Given the description of an element on the screen output the (x, y) to click on. 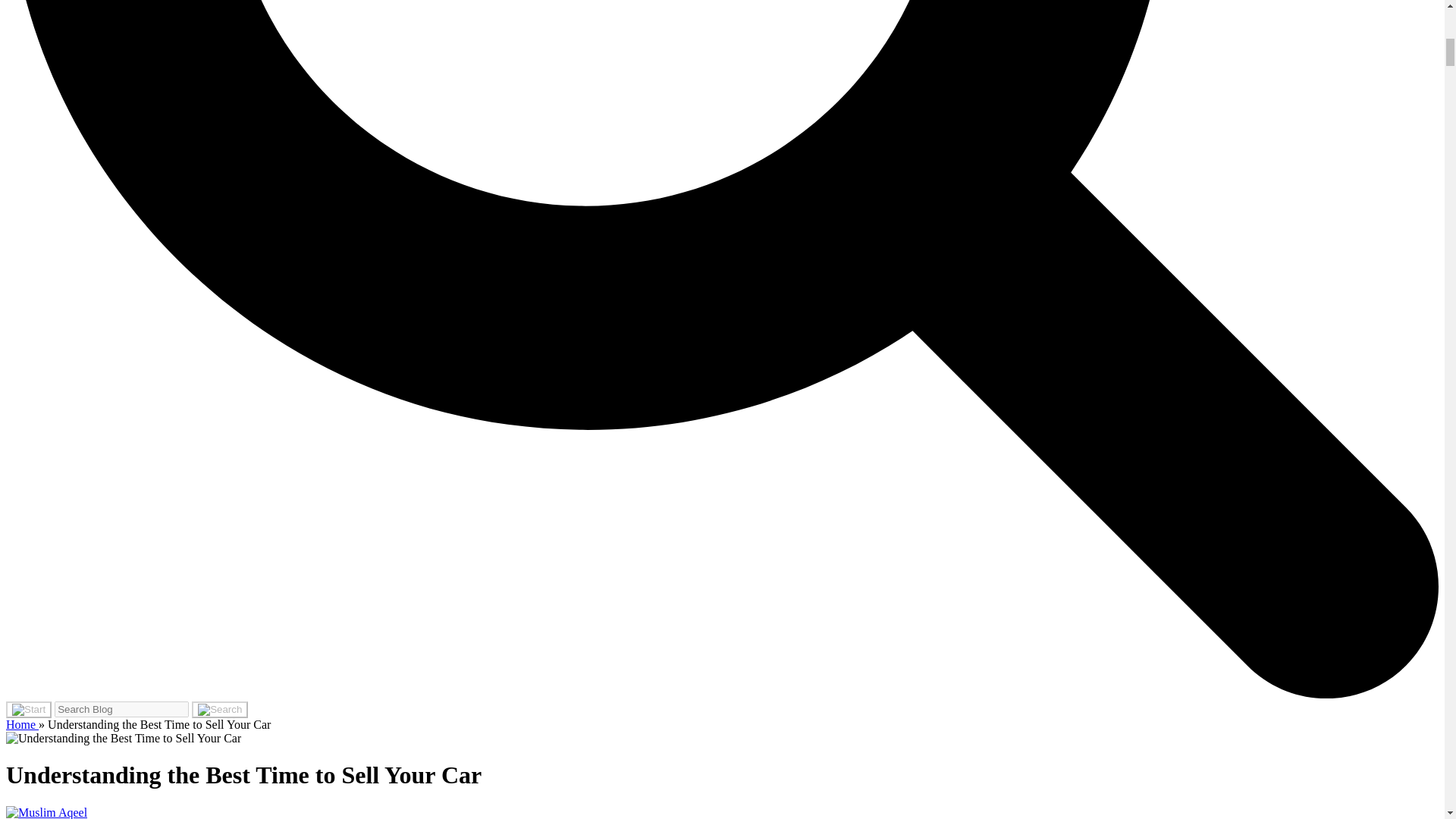
Blog  Home (22, 724)
Home (22, 724)
